Given the description of an element on the screen output the (x, y) to click on. 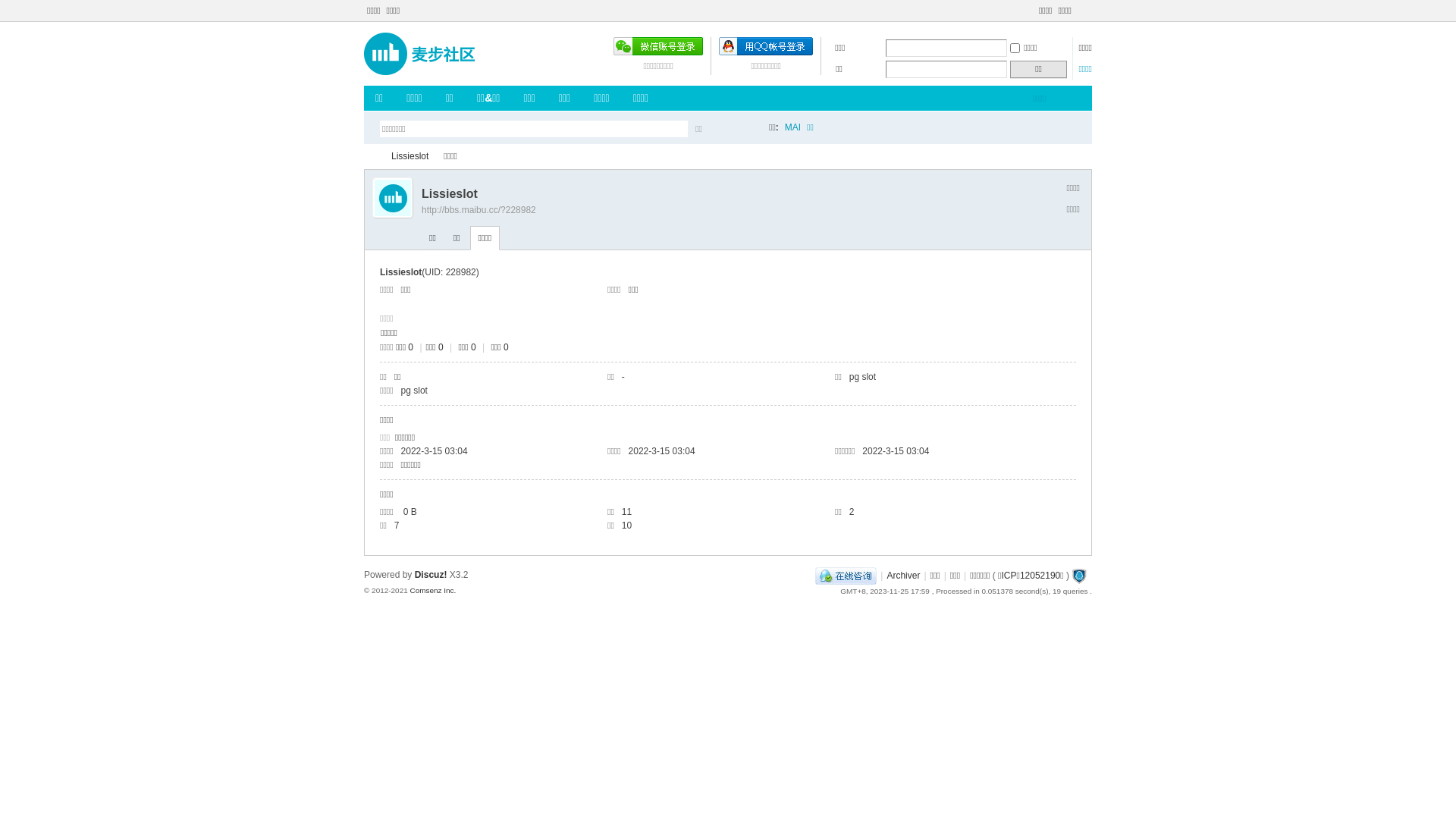
Discuz! Element type: text (430, 574)
http://bbs.maibu.cc/?228982 Element type: text (478, 209)
Lissieslot Element type: text (409, 156)
MAI Element type: text (792, 127)
QQ Element type: hover (845, 575)
true Element type: text (745, 128)
Comsenz Inc. Element type: text (432, 590)
Archiver Element type: text (902, 575)
